Given the description of an element on the screen output the (x, y) to click on. 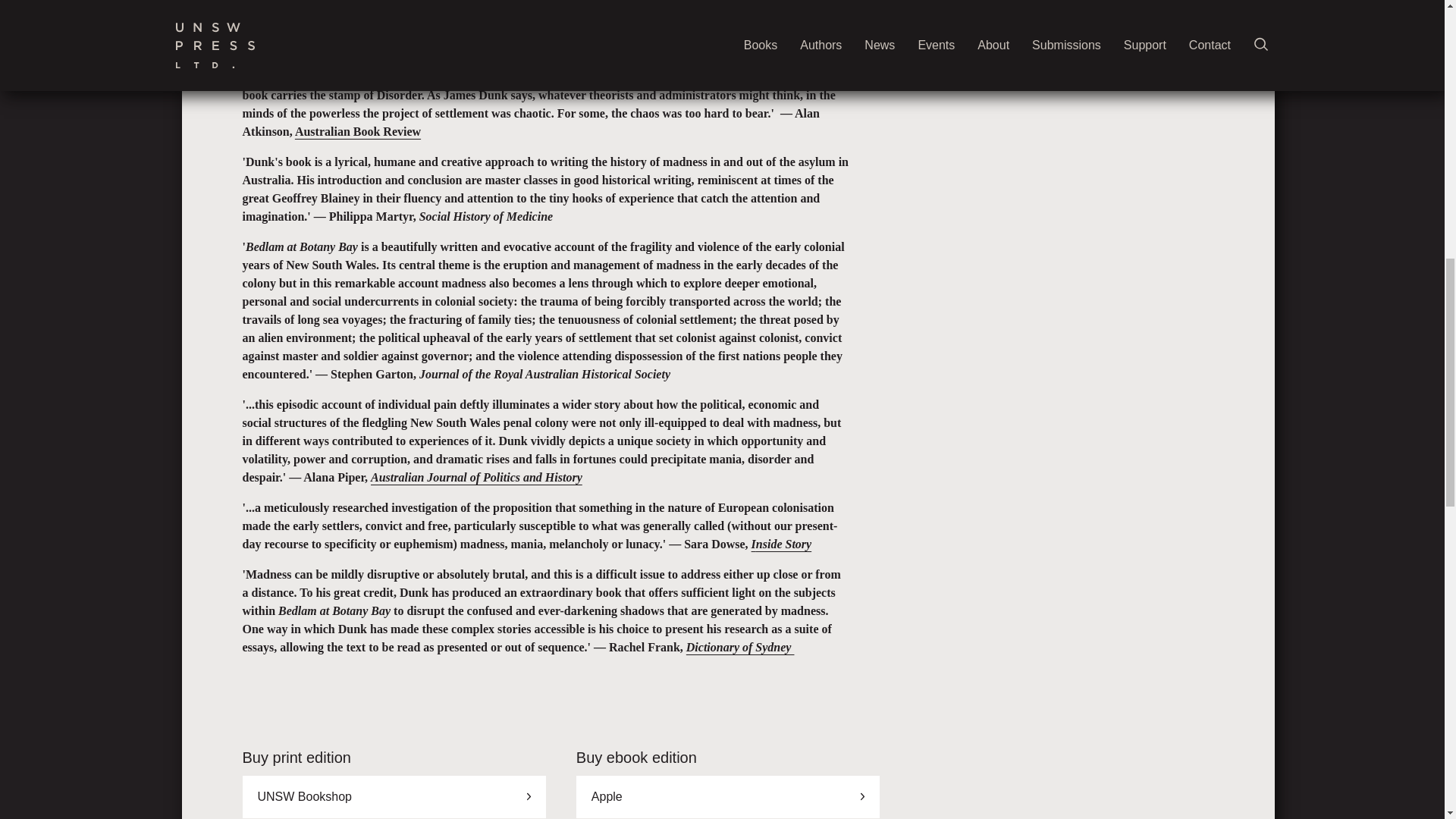
Dictionary of Sydney  (739, 646)
Australian Journal of Politics and History (476, 477)
UNSW Bookshop (394, 796)
Apple (727, 796)
nside Story (782, 543)
Australian Book Review (357, 131)
